Given the description of an element on the screen output the (x, y) to click on. 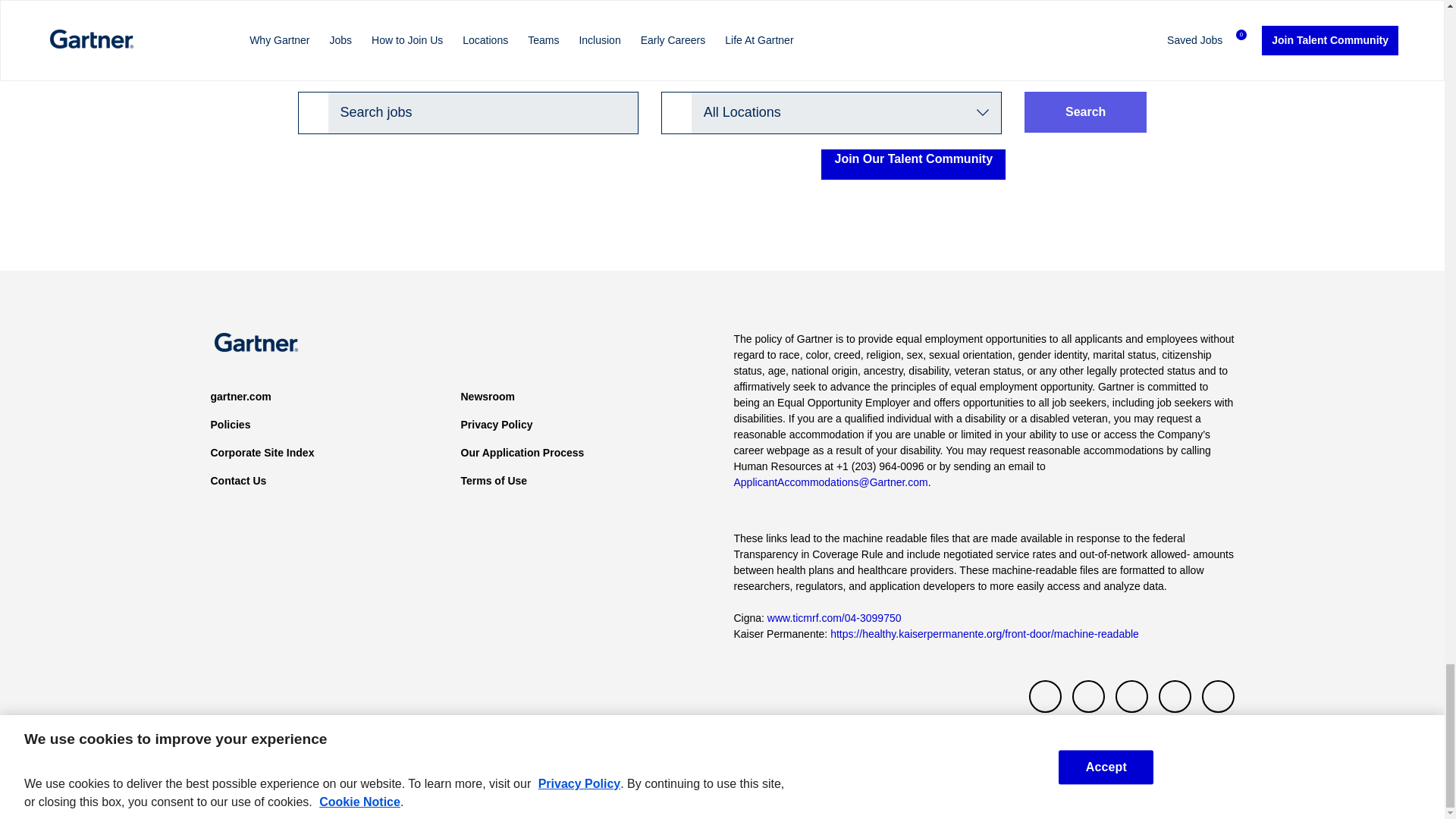
Facebook (1088, 696)
YouTube (1174, 696)
LinkedIn (1131, 696)
Twitter (1045, 696)
Instagram (1217, 696)
